Given the description of an element on the screen output the (x, y) to click on. 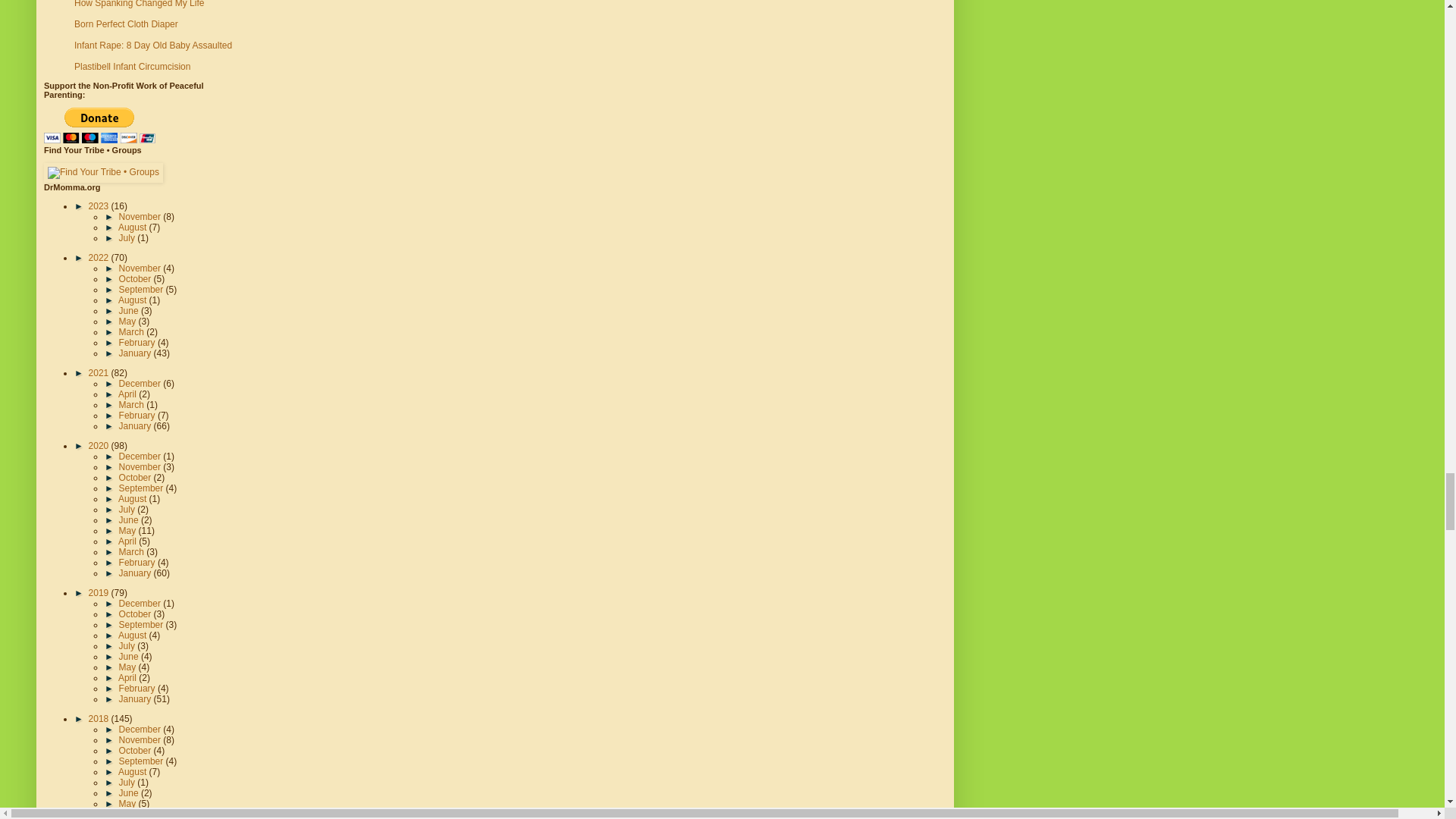
PayPal - The safer, easier way to pay online! (99, 125)
